Given the description of an element on the screen output the (x, y) to click on. 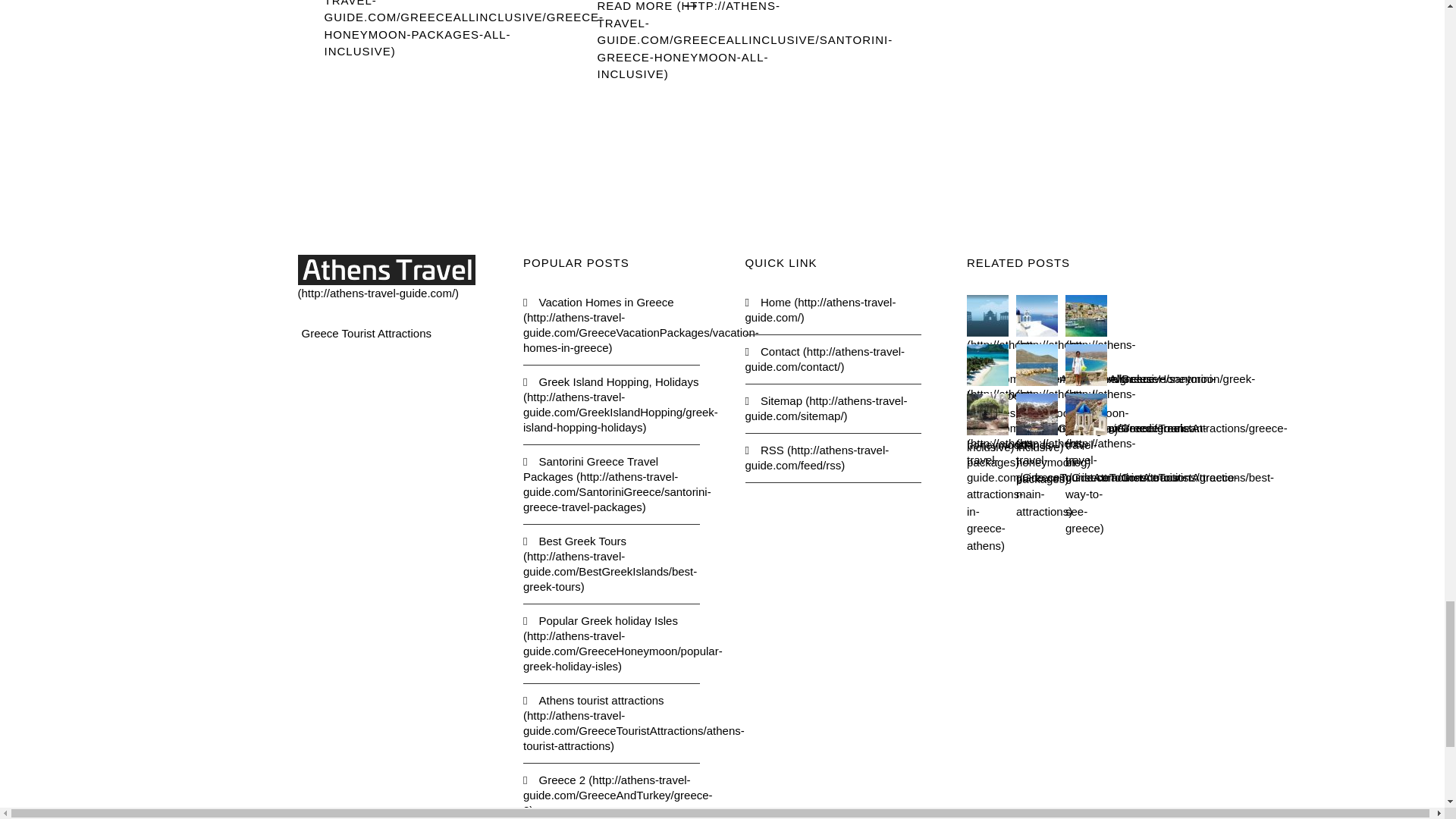
READ MORE (744, 40)
READ MORE (464, 28)
